Given the description of an element on the screen output the (x, y) to click on. 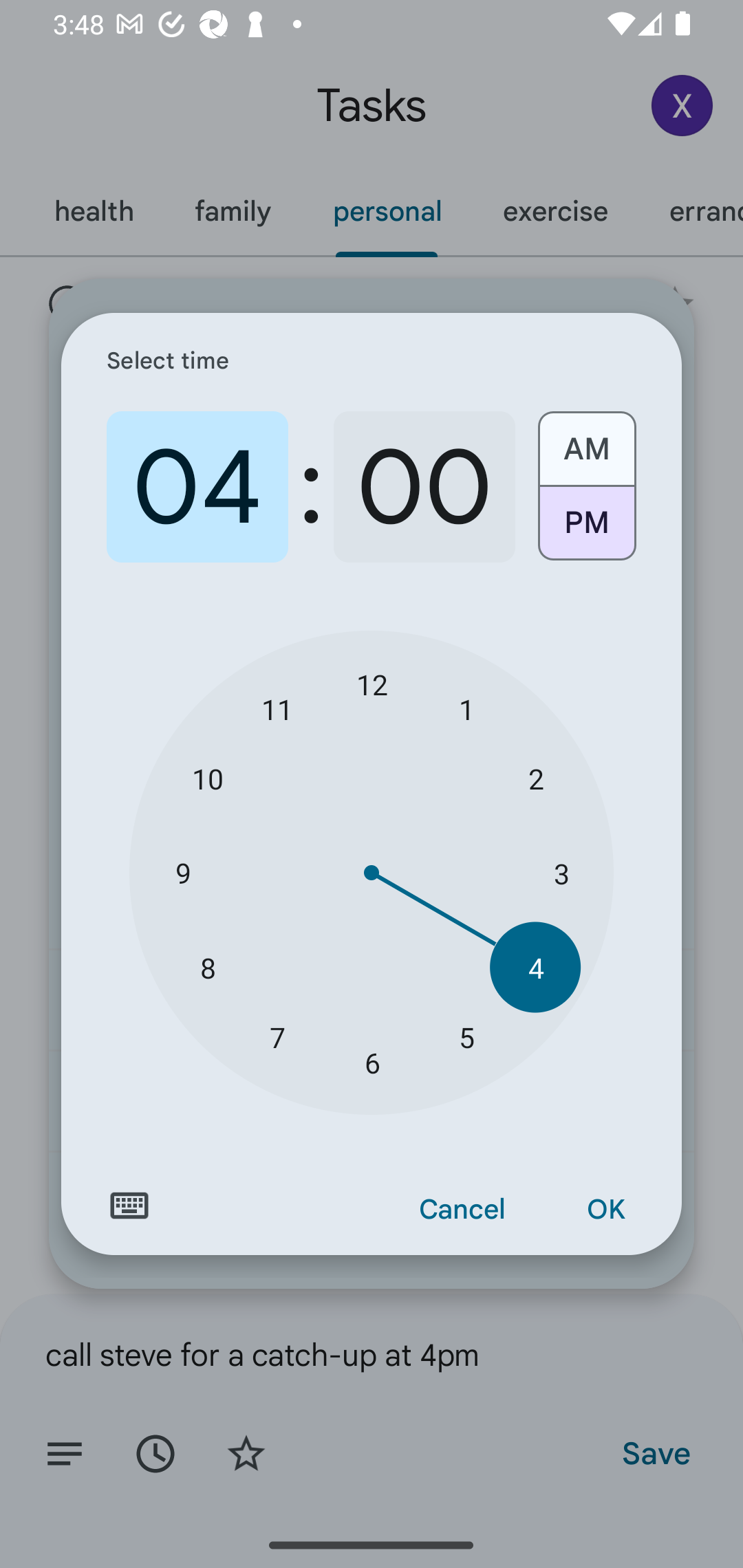
AM (586, 441)
04 4 o'clock (197, 486)
00 0 minutes (424, 486)
PM (586, 529)
12 12 o'clock (371, 683)
11 11 o'clock (276, 708)
1 1 o'clock (466, 708)
10 10 o'clock (207, 778)
2 2 o'clock (535, 778)
9 9 o'clock (182, 872)
3 3 o'clock (561, 872)
8 8 o'clock (207, 966)
4 4 o'clock (535, 966)
7 7 o'clock (276, 1035)
5 5 o'clock (466, 1035)
6 6 o'clock (371, 1062)
Switch to text input mode for the time input. (128, 1205)
Cancel (462, 1209)
OK (605, 1209)
